Given the description of an element on the screen output the (x, y) to click on. 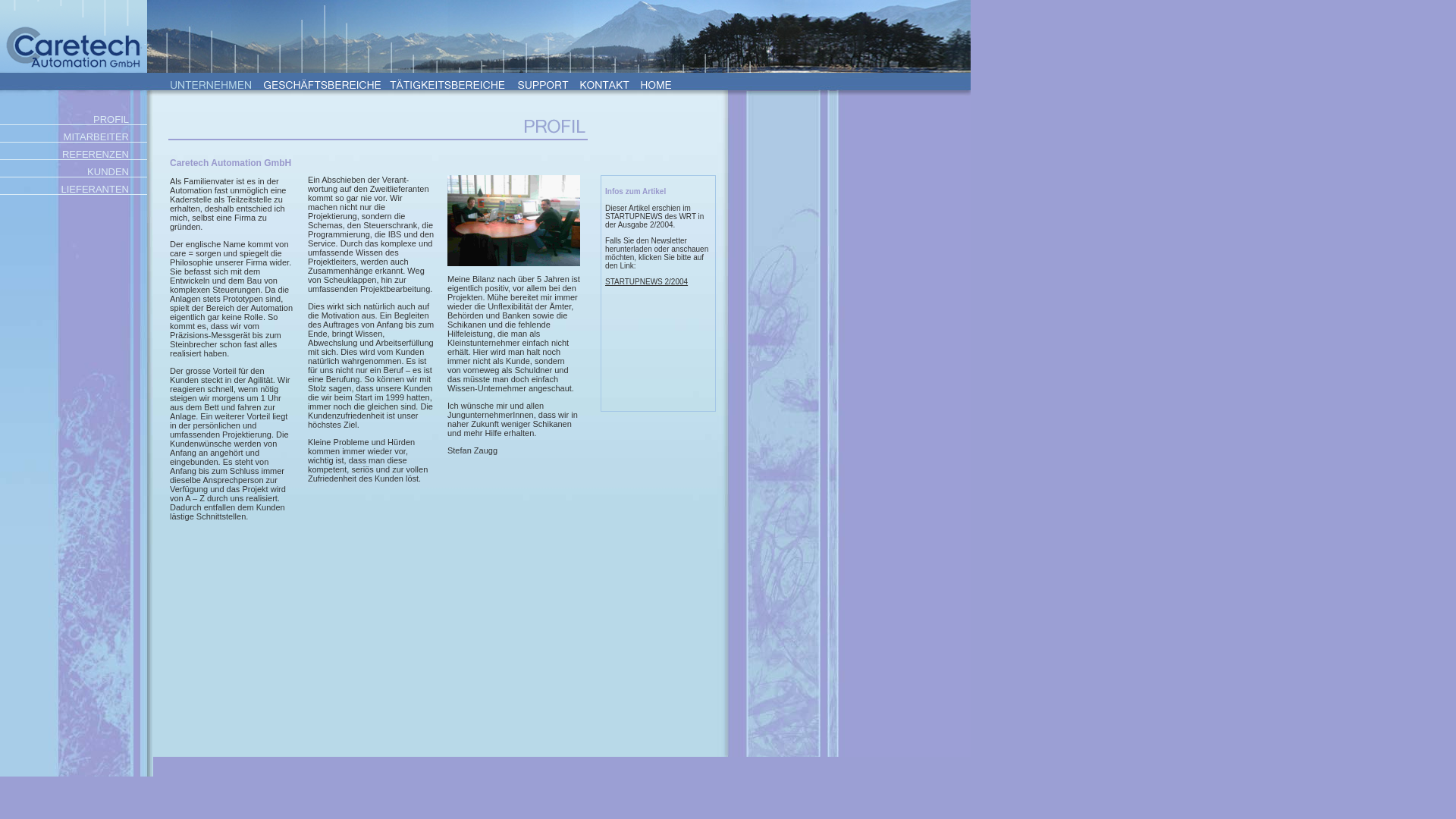
PROFIL Element type: text (73, 119)
KUNDEN Element type: text (73, 171)
LIEFERANTEN Element type: text (73, 188)
REFERENZEN Element type: text (73, 154)
STARTUPNEWS 2/2004 Element type: text (646, 281)
MITARBEITER Element type: text (73, 136)
